Given the description of an element on the screen output the (x, y) to click on. 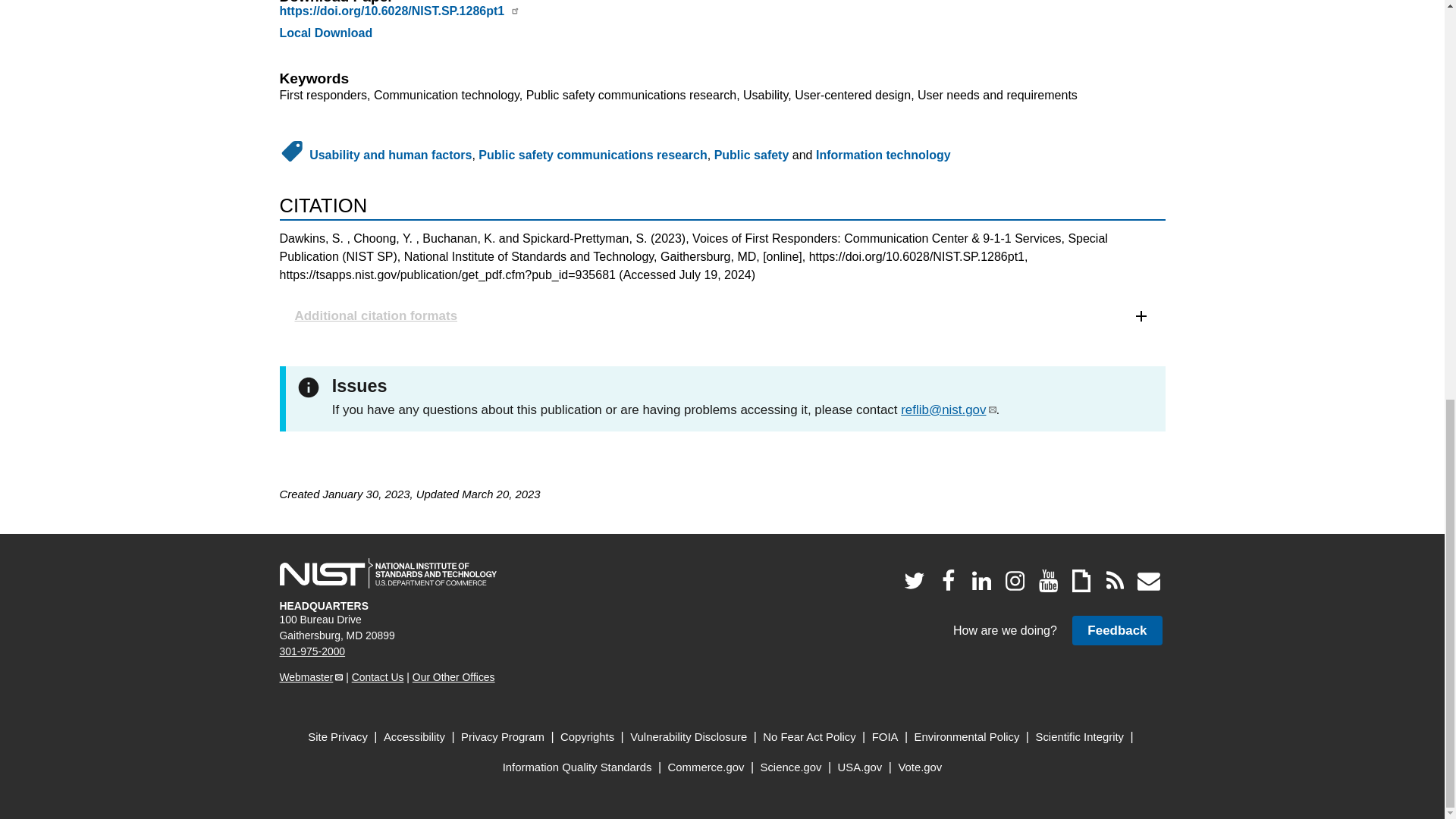
Usability and human factors (389, 154)
Site Privacy (337, 736)
National Institute of Standards and Technology (387, 572)
Information technology (882, 154)
Accessibility (414, 736)
Feedback (1116, 630)
Webmaster (310, 676)
Contact Us (378, 676)
Local Download (325, 32)
Public safety communications research (592, 154)
Public safety (751, 154)
Additional citation formats (721, 315)
Our Other Offices (453, 676)
Privacy Program (502, 736)
301-975-2000 (312, 651)
